Given the description of an element on the screen output the (x, y) to click on. 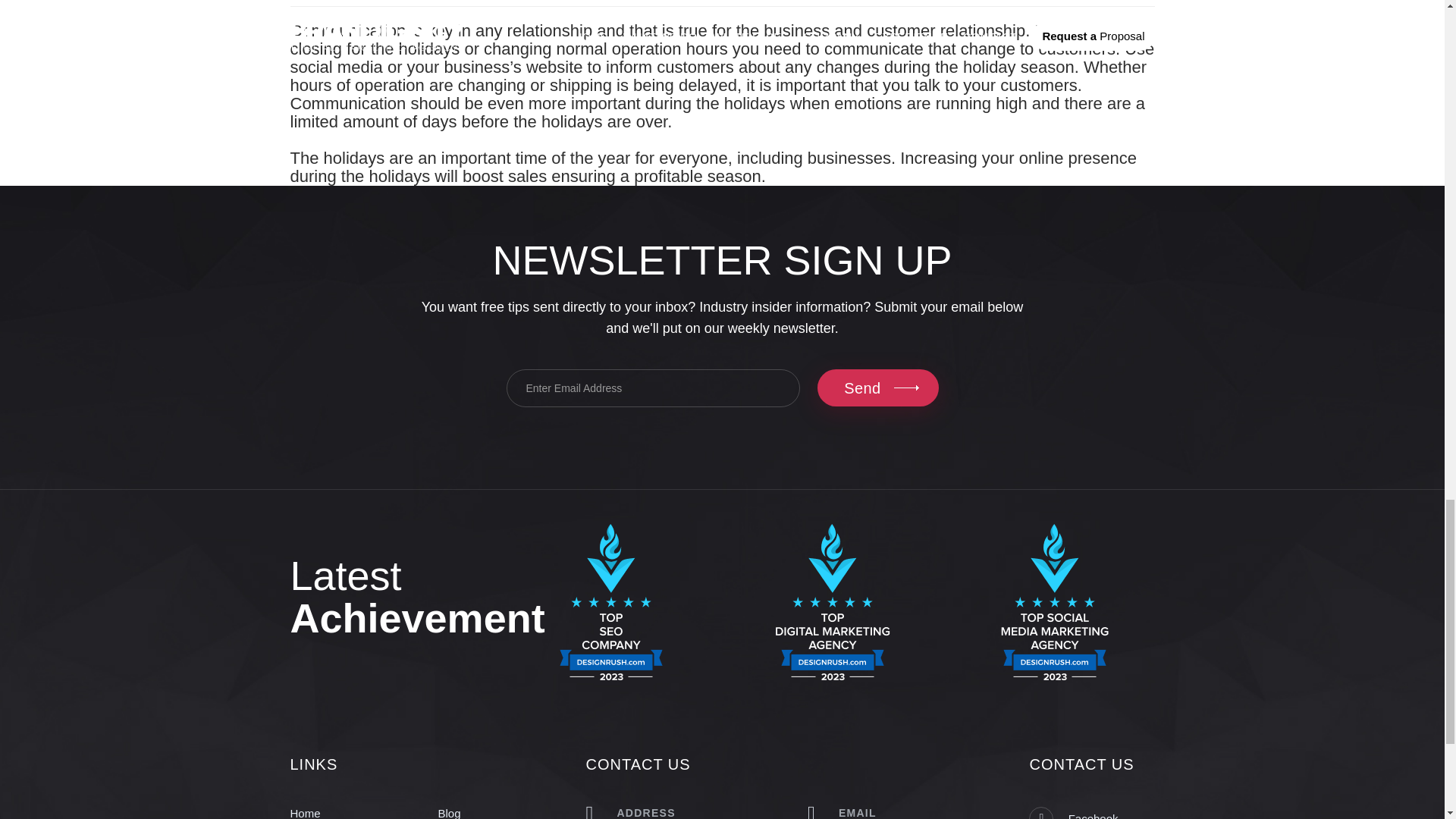
Send (876, 387)
